Given the description of an element on the screen output the (x, y) to click on. 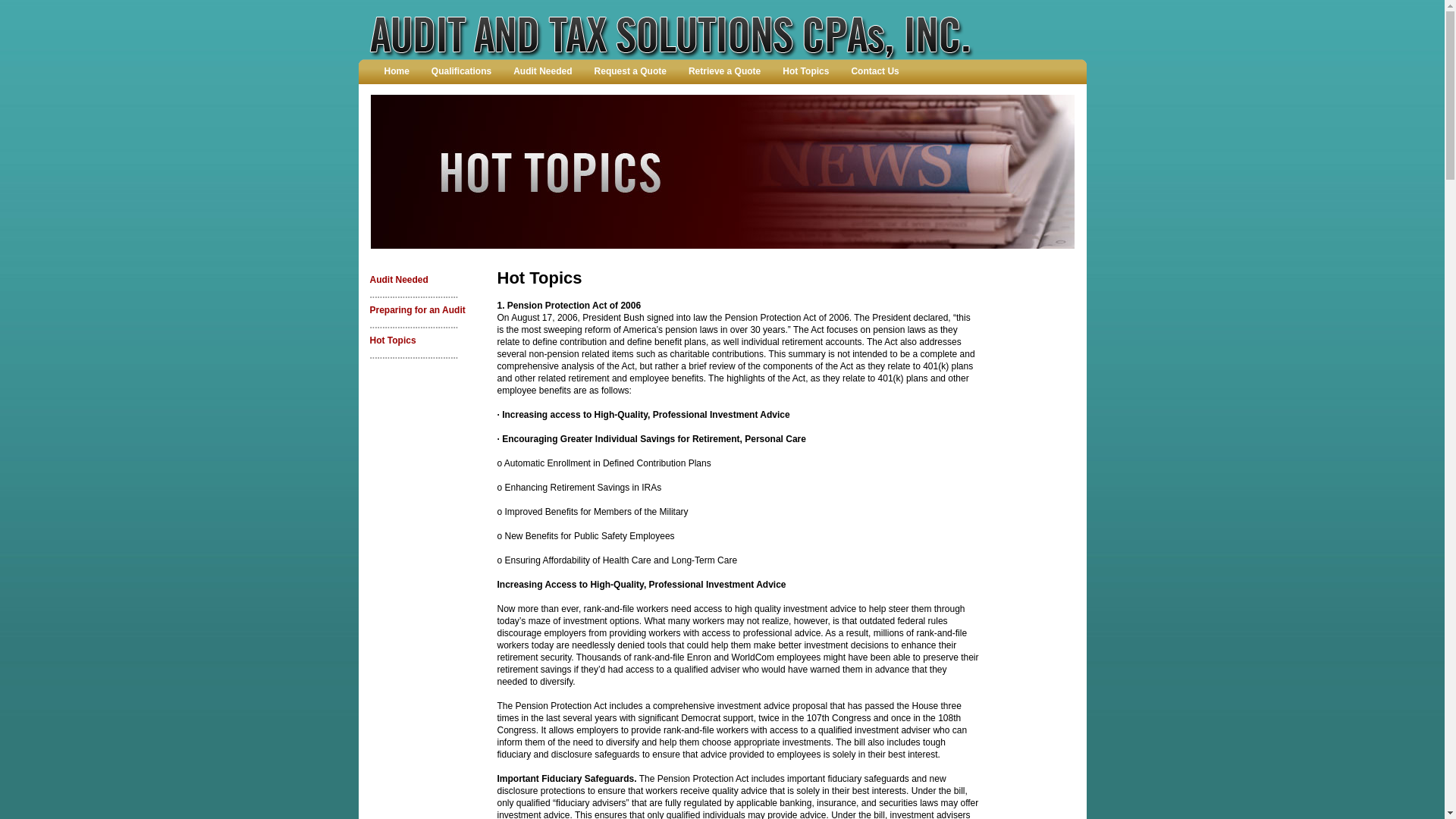
Preparing for an Audit Element type: text (417, 309)
Qualifications Element type: text (461, 71)
Retrieve a Quote Element type: text (724, 71)
Home Element type: text (396, 71)
Hot Topics Element type: text (393, 340)
Contact Us Element type: text (875, 71)
Audit Needed Element type: text (399, 279)
Hot Topics Element type: text (805, 71)
Audit Needed Element type: text (542, 71)
Request a Quote Element type: text (630, 71)
